Given the description of an element on the screen output the (x, y) to click on. 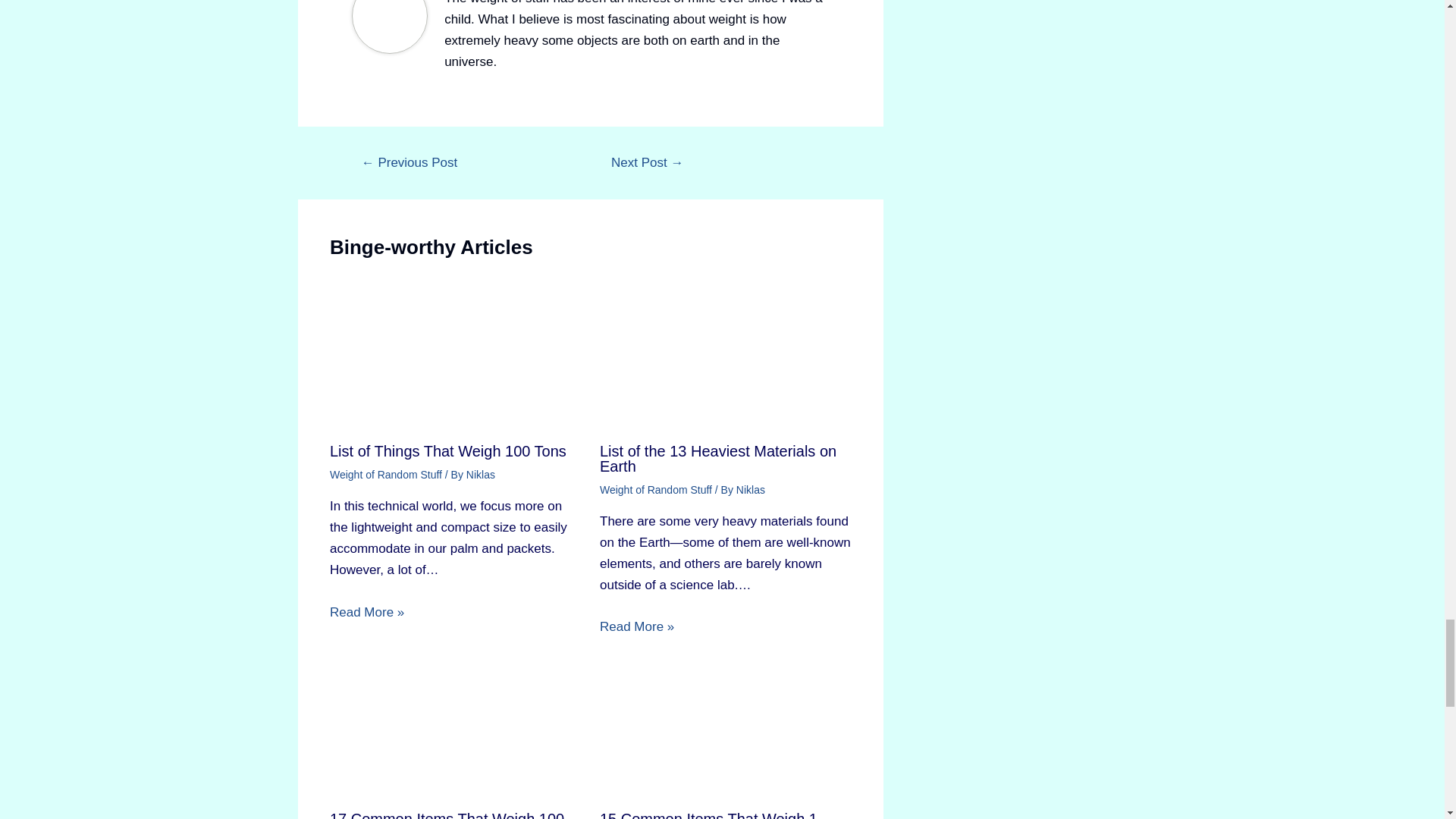
11 Common Items That Weighs 11 Ounces (409, 162)
View all posts by Niklas (480, 474)
View all posts by Niklas (750, 490)
